Given the description of an element on the screen output the (x, y) to click on. 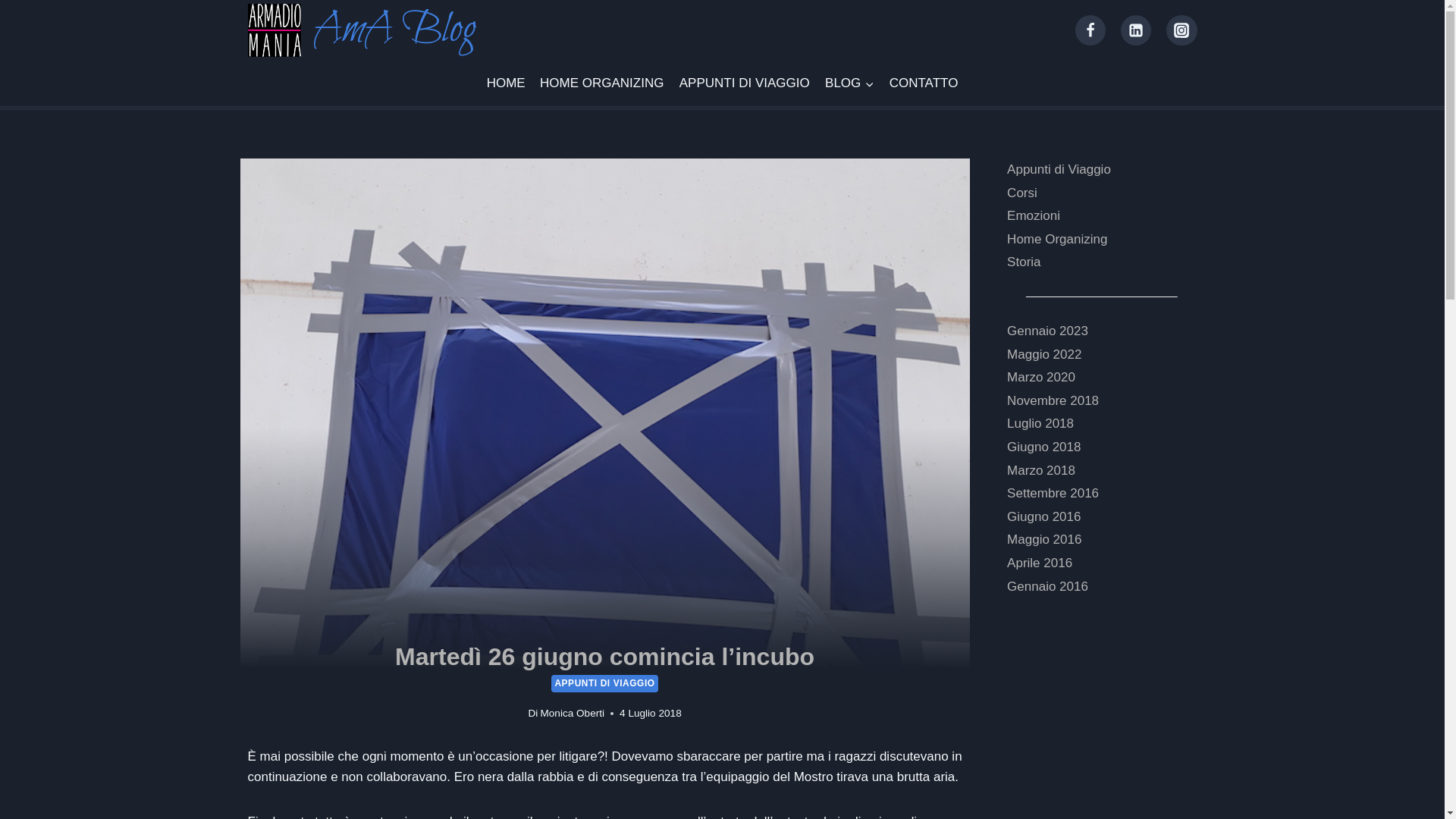
Giugno 2016 Element type: text (1043, 516)
Novembre 2018 Element type: text (1052, 400)
Home Organizing Element type: text (1057, 239)
Maggio 2022 Element type: text (1044, 354)
APPUNTI DI VIAGGIO Element type: text (744, 83)
CONTATTO Element type: text (923, 83)
BLOG Element type: text (849, 83)
Marzo 2018 Element type: text (1041, 470)
APPUNTI DI VIAGGIO Element type: text (604, 682)
Storia Element type: text (1023, 261)
AmA Blog Element type: text (361, 30)
Aprile 2016 Element type: text (1039, 562)
Appunti di Viaggio Element type: text (1058, 169)
Monica Oberti Element type: text (571, 712)
Luglio 2018 Element type: text (1040, 423)
Corsi Element type: text (1022, 192)
Marzo 2020 Element type: text (1041, 377)
Maggio 2016 Element type: text (1044, 539)
HOME ORGANIZING Element type: text (601, 83)
HOME Element type: text (505, 83)
Giugno 2018 Element type: text (1043, 446)
Gennaio 2023 Element type: text (1047, 330)
Gennaio 2016 Element type: text (1047, 586)
Emozioni Element type: text (1033, 215)
Settembre 2016 Element type: text (1052, 493)
